Given the description of an element on the screen output the (x, y) to click on. 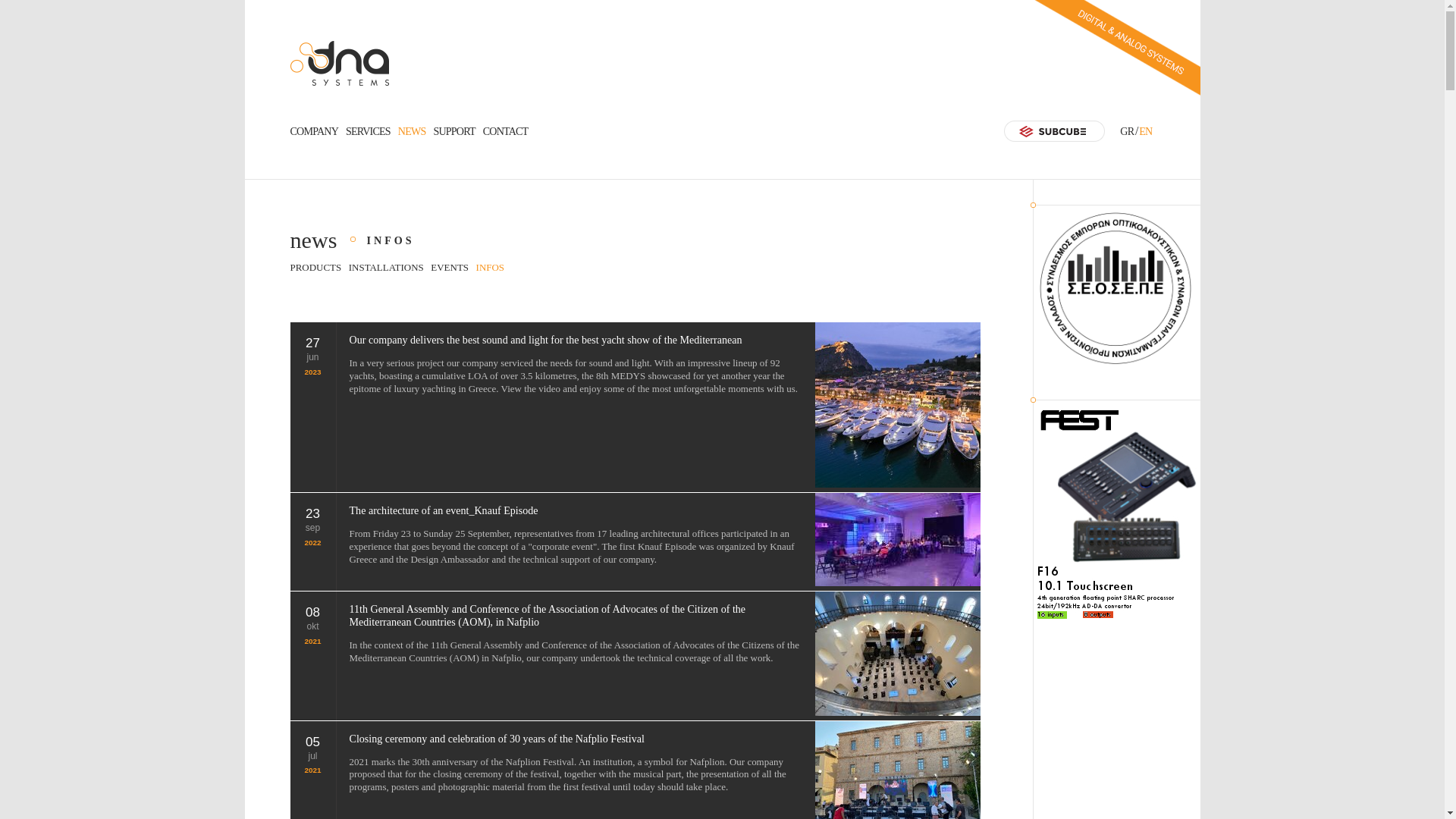
COMPANY (313, 131)
PRODUCTS (314, 266)
EVENTS (449, 266)
INFOS (489, 266)
SERVICES (368, 131)
GR (1126, 131)
INSTALLATIONS (386, 266)
SUPPORT (453, 131)
CONTACT (505, 131)
NEWS (411, 131)
SUBCUBE (1054, 130)
EN (1144, 131)
